Given the description of an element on the screen output the (x, y) to click on. 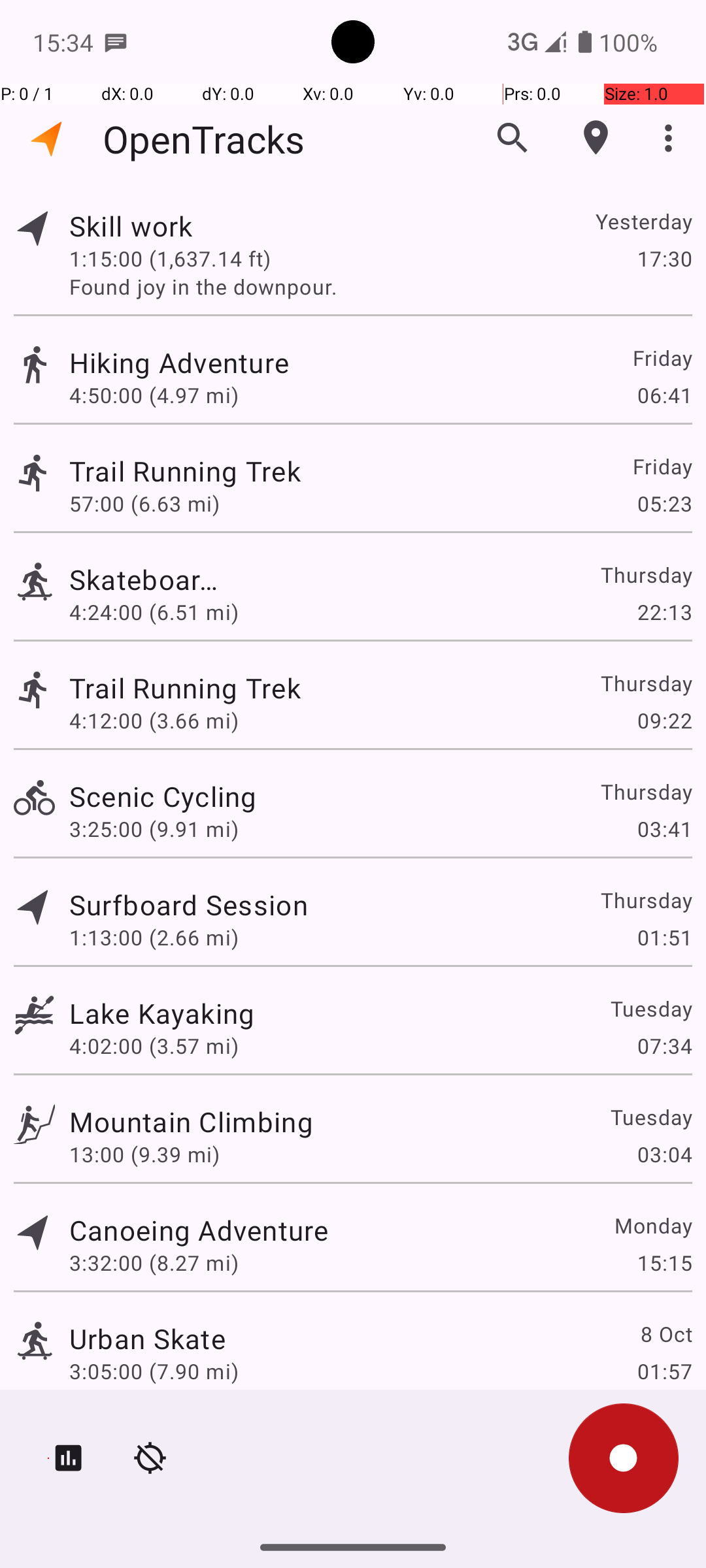
Skill work Element type: android.widget.TextView (161, 225)
1:15:00 (1,637.14 ft) Element type: android.widget.TextView (169, 258)
17:30 Element type: android.widget.TextView (664, 258)
Found joy in the downpour. Element type: android.widget.TextView (380, 286)
Hiking Adventure Element type: android.widget.TextView (190, 361)
4:50:00 (4.97 mi) Element type: android.widget.TextView (153, 394)
06:41 Element type: android.widget.TextView (664, 394)
Trail Running Trek Element type: android.widget.TextView (198, 470)
57:00 (6.63 mi) Element type: android.widget.TextView (153, 503)
05:23 Element type: android.widget.TextView (664, 503)
Skateboard Exploration Element type: android.widget.TextView (147, 578)
4:24:00 (6.51 mi) Element type: android.widget.TextView (153, 611)
22:13 Element type: android.widget.TextView (664, 611)
4:12:00 (3.66 mi) Element type: android.widget.TextView (169, 720)
09:22 Element type: android.widget.TextView (664, 720)
Scenic Cycling Element type: android.widget.TextView (162, 795)
3:25:00 (9.91 mi) Element type: android.widget.TextView (153, 828)
03:41 Element type: android.widget.TextView (664, 828)
Surfboard Session Element type: android.widget.TextView (188, 904)
1:13:00 (2.66 mi) Element type: android.widget.TextView (153, 937)
01:51 Element type: android.widget.TextView (664, 937)
Lake Kayaking Element type: android.widget.TextView (161, 1012)
4:02:00 (3.57 mi) Element type: android.widget.TextView (153, 1045)
07:34 Element type: android.widget.TextView (664, 1045)
Mountain Climbing Element type: android.widget.TextView (190, 1121)
13:00 (9.39 mi) Element type: android.widget.TextView (144, 1154)
03:04 Element type: android.widget.TextView (664, 1154)
Canoeing Adventure Element type: android.widget.TextView (198, 1229)
3:32:00 (8.27 mi) Element type: android.widget.TextView (153, 1262)
15:15 Element type: android.widget.TextView (664, 1262)
Urban Skate Element type: android.widget.TextView (147, 1337)
8 Oct Element type: android.widget.TextView (665, 1333)
3:05:00 (7.90 mi) Element type: android.widget.TextView (153, 1370)
01:57 Element type: android.widget.TextView (664, 1370)
